Given the description of an element on the screen output the (x, y) to click on. 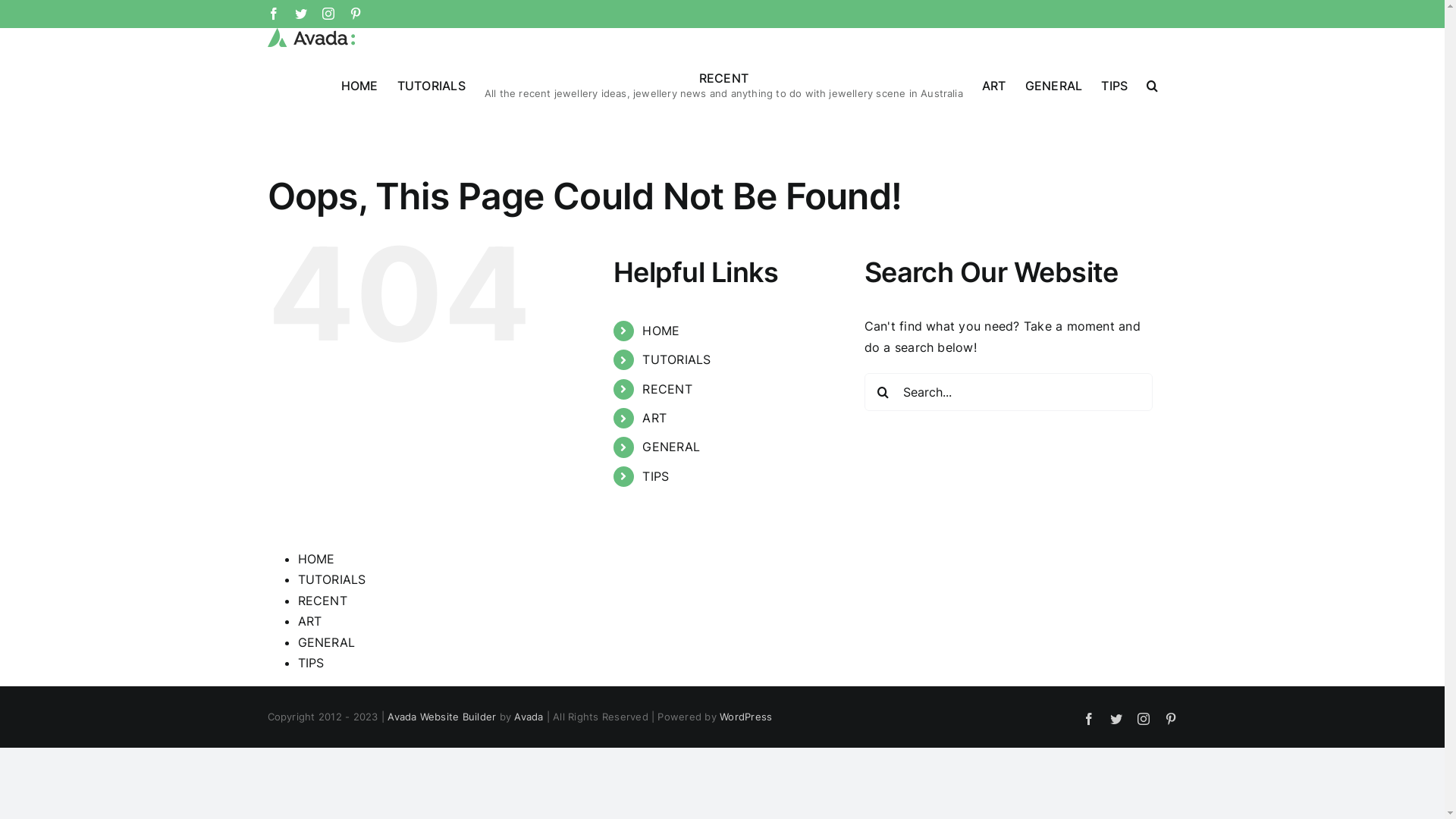
Avada Website Builder Element type: text (441, 716)
TUTORIALS Element type: text (331, 578)
TIPS Element type: text (655, 475)
Pinterest Element type: text (355, 13)
TIPS Element type: text (310, 662)
HOME Element type: text (359, 84)
RECENT Element type: text (666, 388)
ART Element type: text (309, 620)
Instagram Element type: text (328, 13)
HOME Element type: text (660, 330)
GENERAL Element type: text (670, 446)
Facebook Element type: text (272, 13)
GENERAL Element type: text (325, 641)
Search Element type: hover (1151, 84)
RECENT Element type: text (321, 600)
Instagram Element type: text (1143, 718)
TUTORIALS Element type: text (431, 84)
GENERAL Element type: text (1053, 84)
Twitter Element type: text (1116, 718)
Facebook Element type: text (1088, 718)
ART Element type: text (654, 417)
Twitter Element type: text (300, 13)
TIPS Element type: text (1114, 84)
ART Element type: text (994, 84)
Pinterest Element type: text (1170, 718)
WordPress Element type: text (745, 716)
HOME Element type: text (315, 558)
TUTORIALS Element type: text (676, 359)
Avada Element type: text (528, 716)
